Given the description of an element on the screen output the (x, y) to click on. 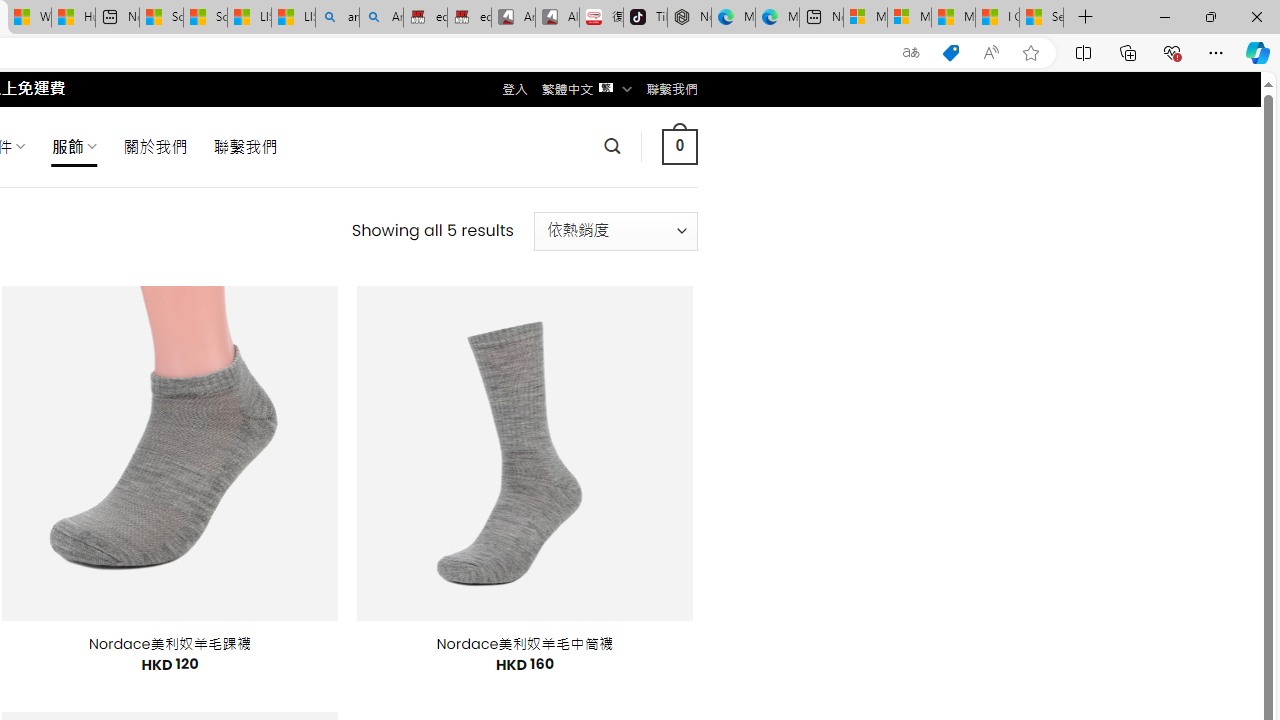
  0   (679, 146)
Amazon Echo Dot PNG - Search Images (381, 17)
